Given the description of an element on the screen output the (x, y) to click on. 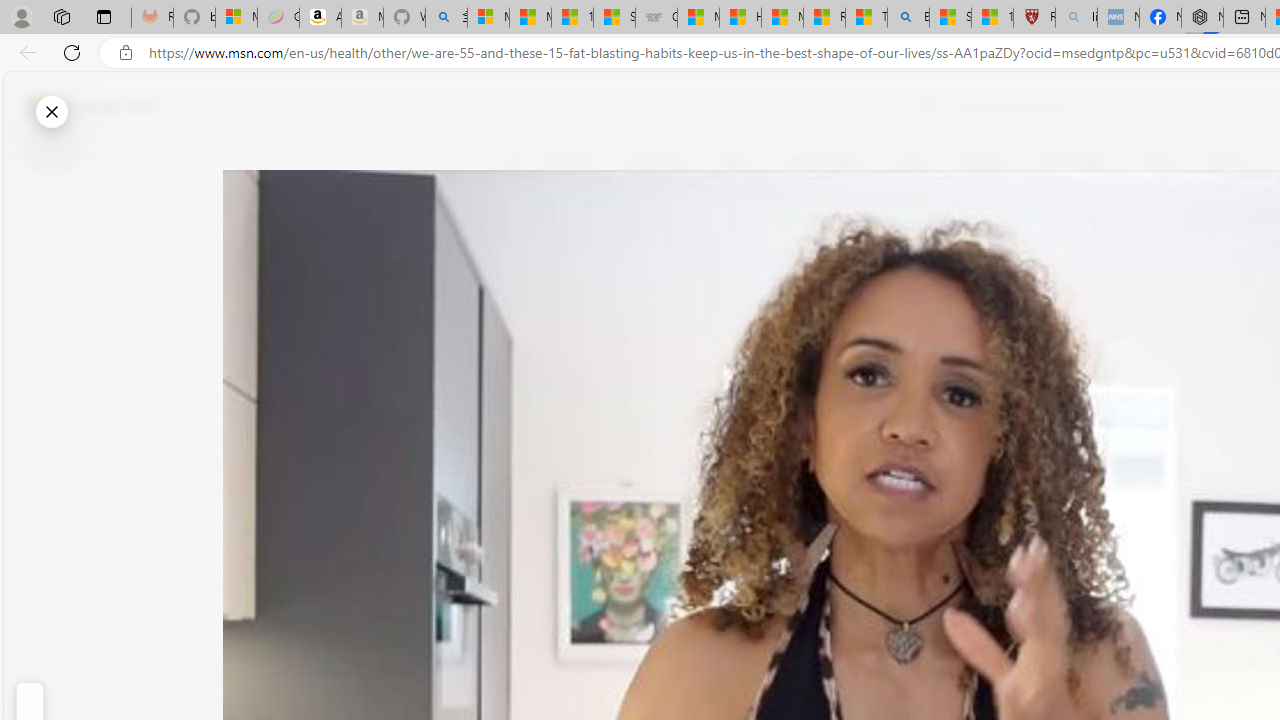
Nordace - Nordace Siena Is Not An Ordinary Backpack (1201, 17)
Share this story (525, 412)
6 (525, 300)
Bing (908, 17)
Technology (1071, 162)
Politics (1228, 162)
Local (910, 162)
How I Got Rid of Microsoft Edge's Unnecessary Features (740, 17)
